Given the description of an element on the screen output the (x, y) to click on. 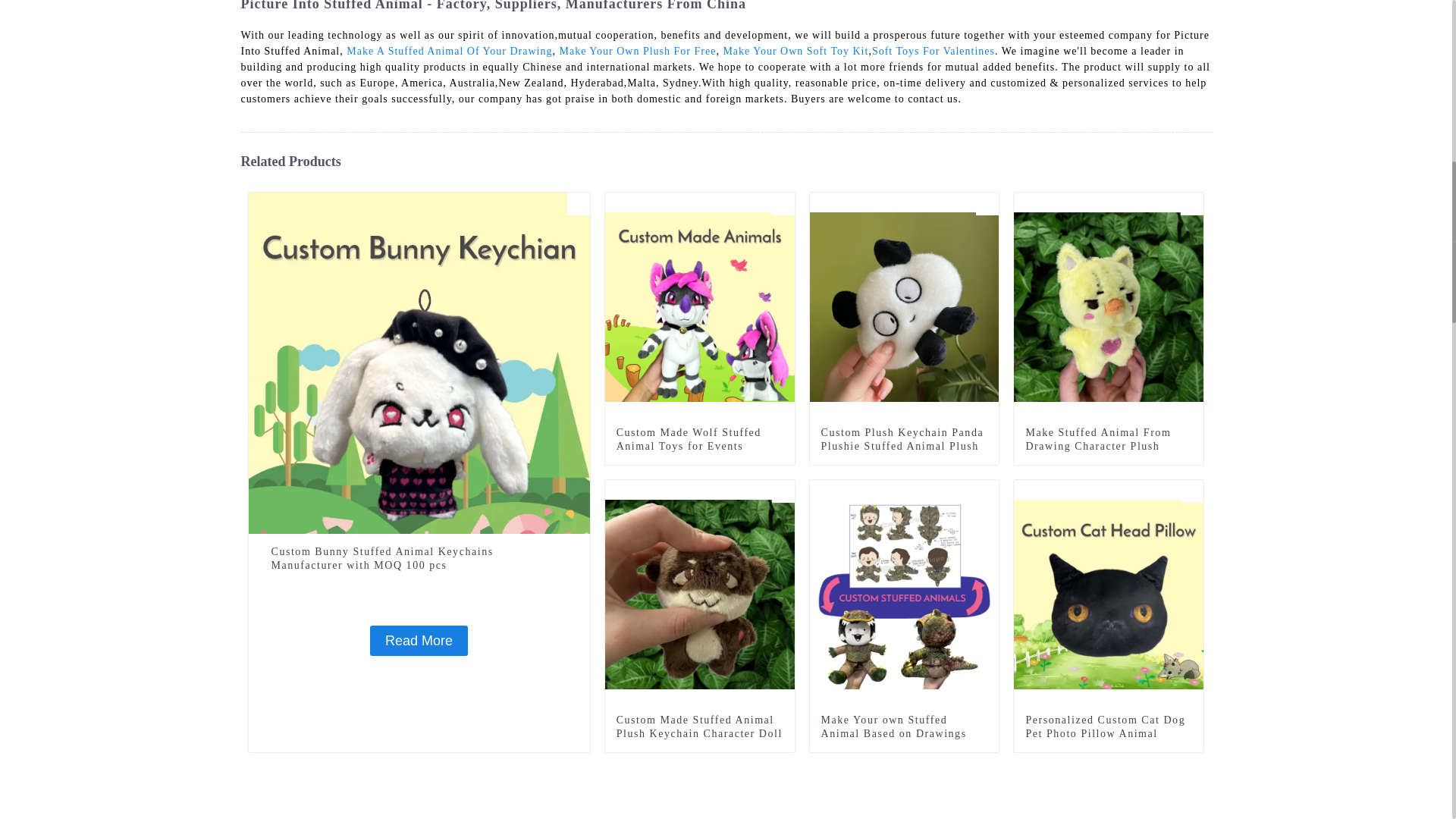
Custom Made Wolf Stuffed Animal Toys for Events  (699, 439)
Make Your Own Soft Toy Kit (794, 50)
Make A Stuffed Animal Of Your Drawing (448, 50)
